Given the description of an element on the screen output the (x, y) to click on. 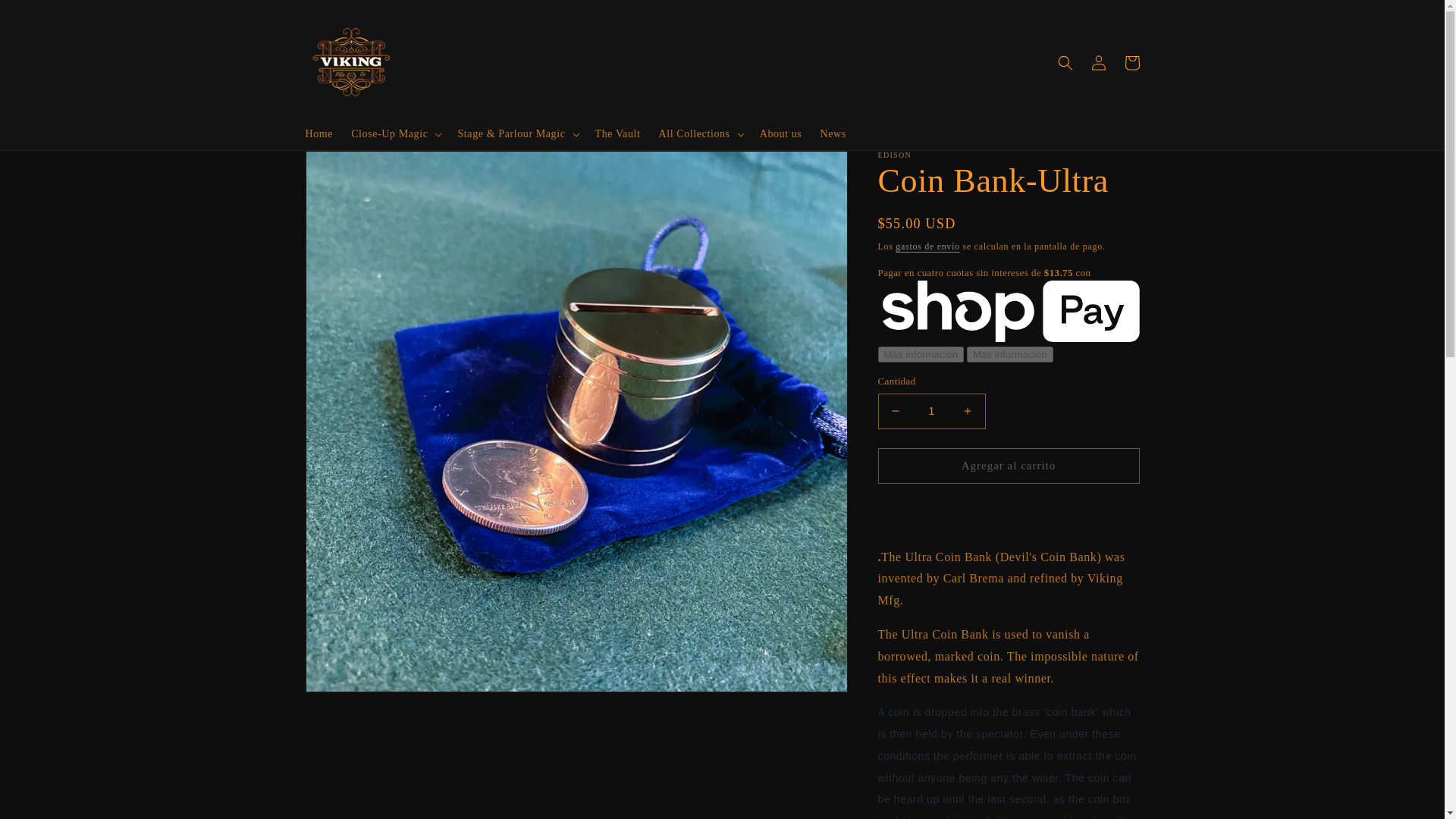
The Vault (617, 133)
Ir directamente al contenido (45, 17)
Home (318, 133)
1 (931, 411)
